Given the description of an element on the screen output the (x, y) to click on. 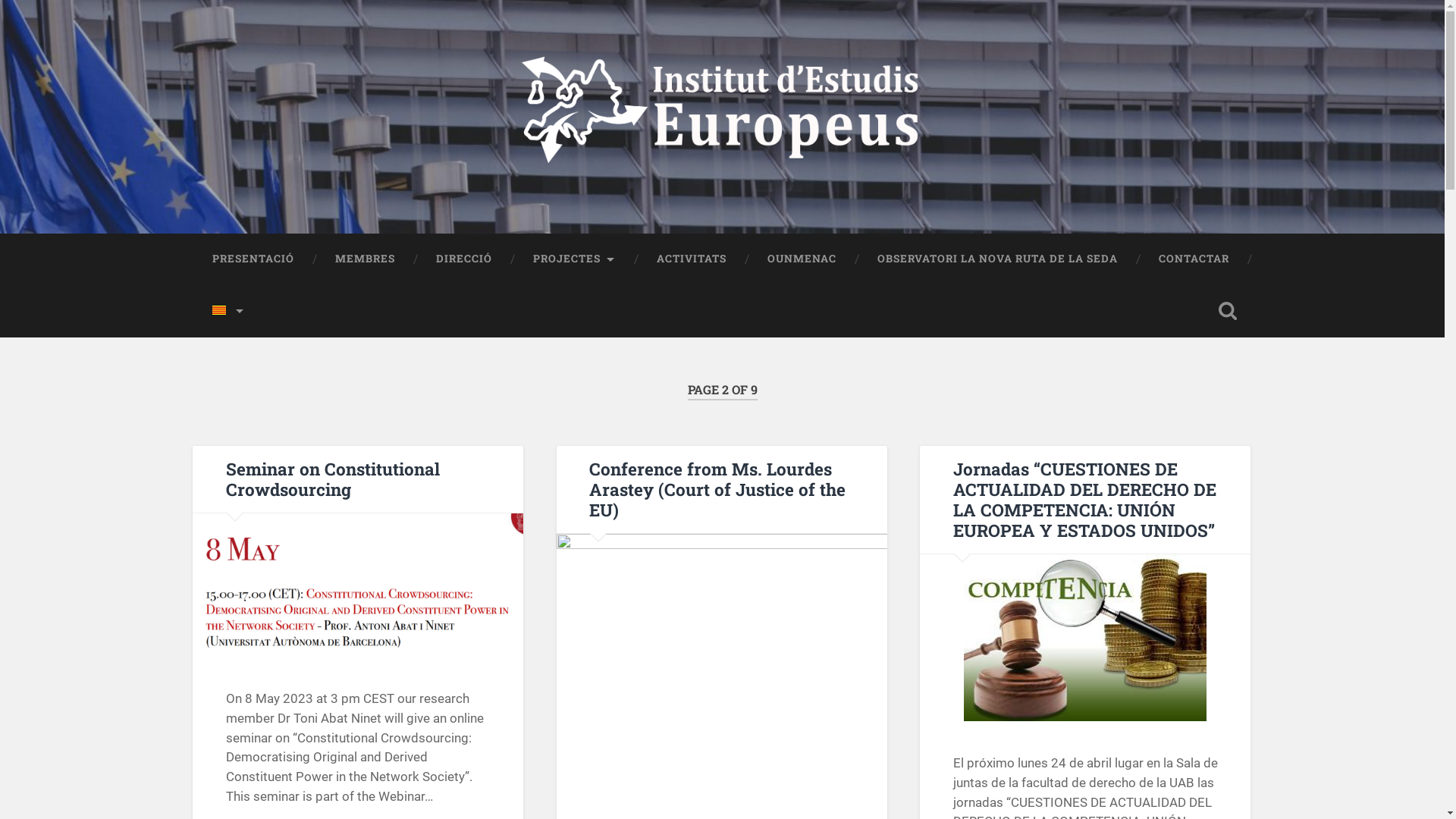
OBSERVATORI LA NOVA RUTA DE LA SEDA Element type: text (997, 259)
ACTIVITATS Element type: text (690, 259)
MEMBRES Element type: text (363, 259)
OUNMENAC Element type: text (801, 259)
PROJECTES Element type: text (574, 259)
CONTACTAR Element type: text (1192, 259)
Seminar on Constitutional Crowdsourcing Element type: text (332, 478)
